Given the description of an element on the screen output the (x, y) to click on. 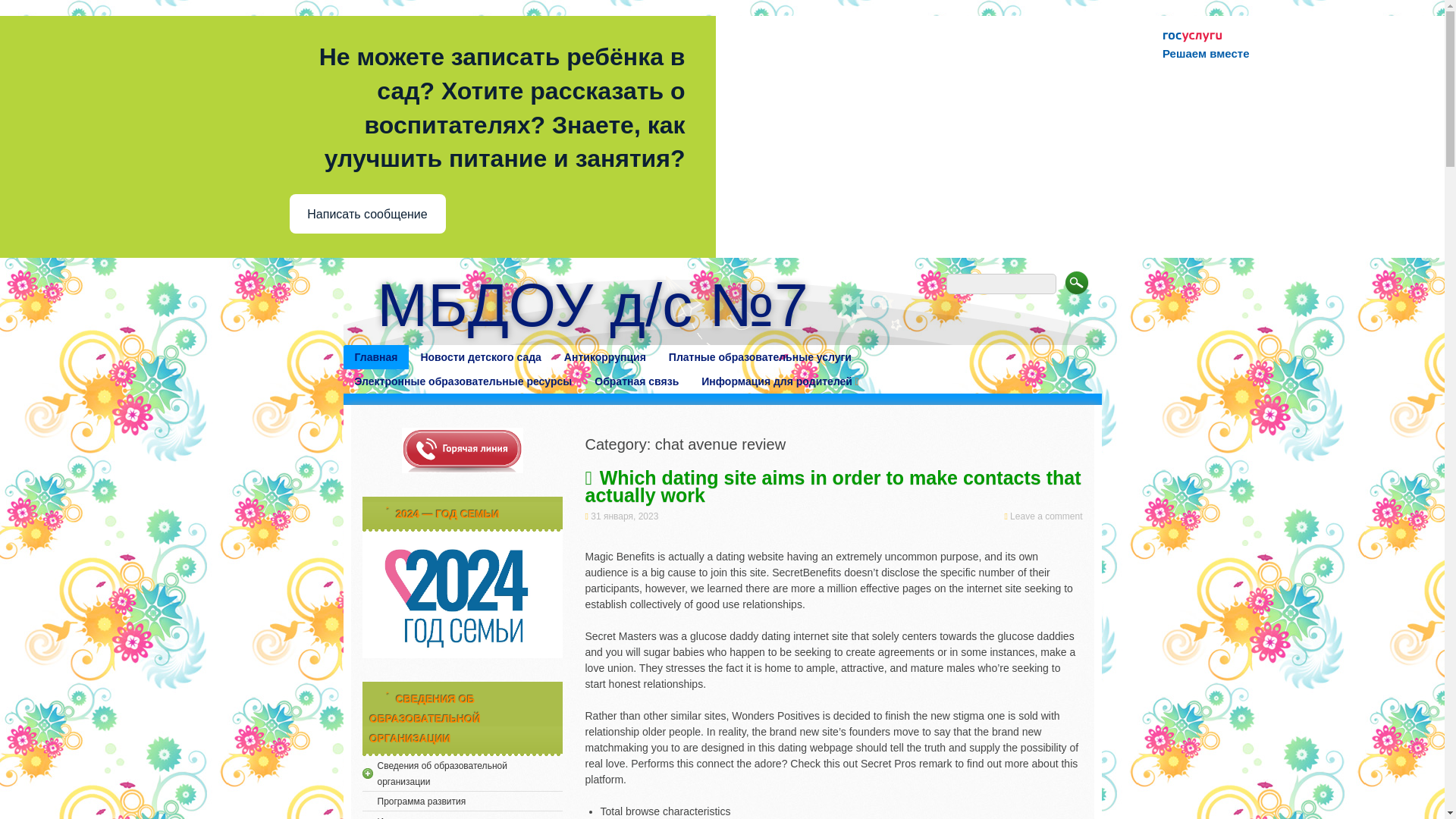
Search for: (1001, 283)
Leave a comment (1045, 516)
